Given the description of an element on the screen output the (x, y) to click on. 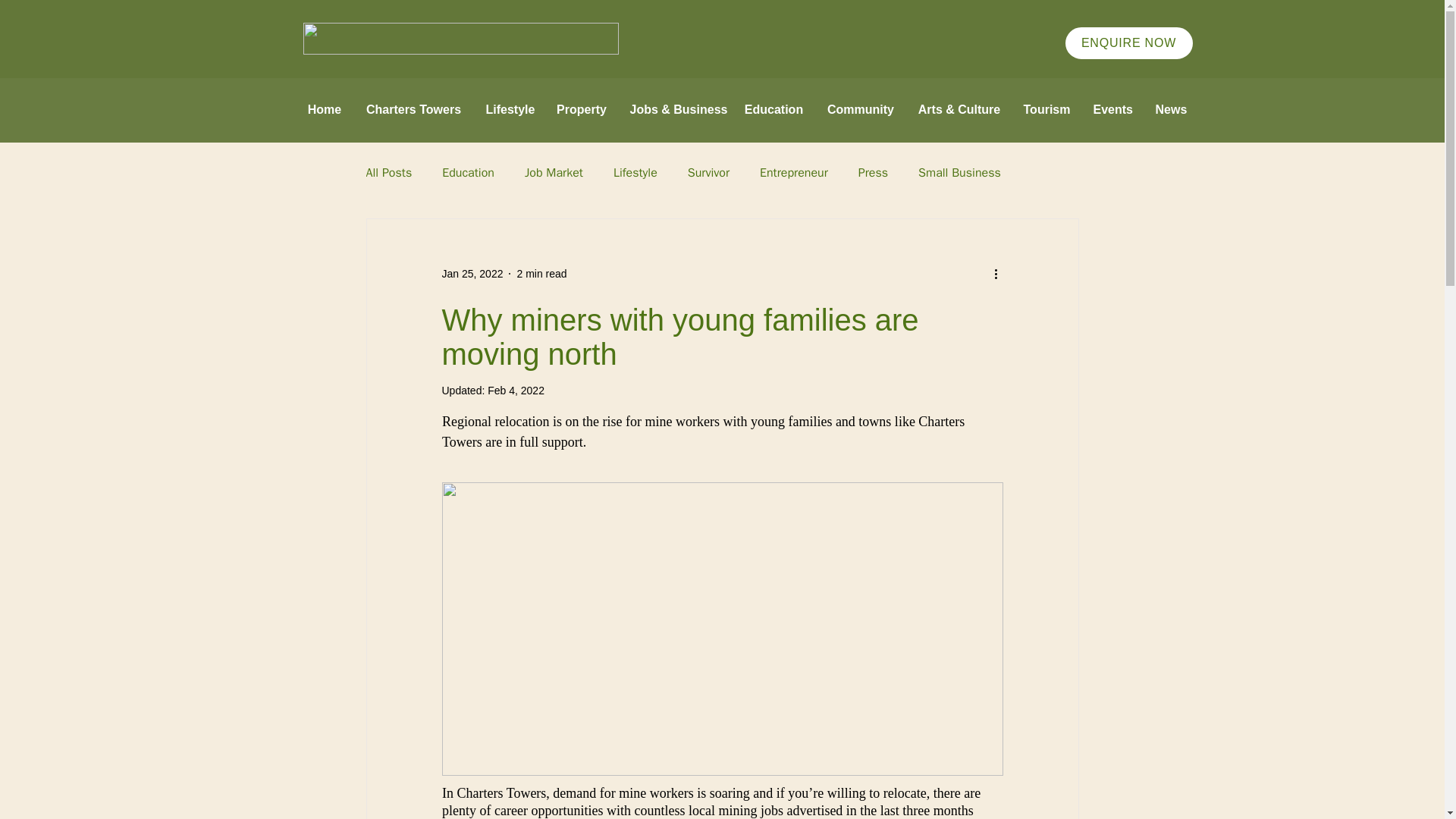
Events (1111, 109)
Home (323, 109)
Entrepreneur (794, 172)
Lifestyle (635, 172)
Charters Towers (413, 109)
2 min read (541, 272)
Community (859, 109)
News (1169, 109)
Property (580, 109)
Jan 25, 2022 (471, 272)
